Given the description of an element on the screen output the (x, y) to click on. 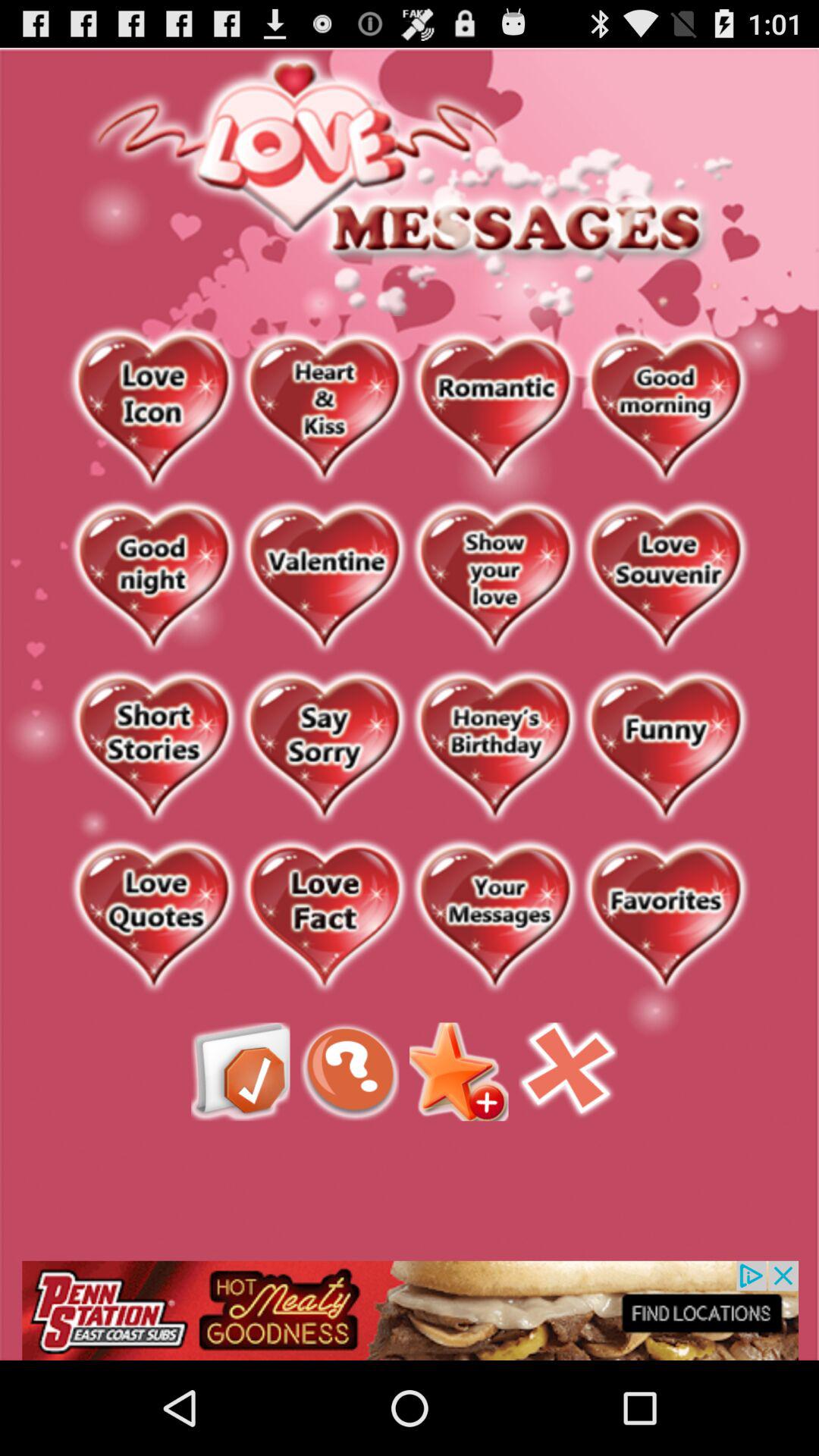
logon (665, 578)
